Given the description of an element on the screen output the (x, y) to click on. 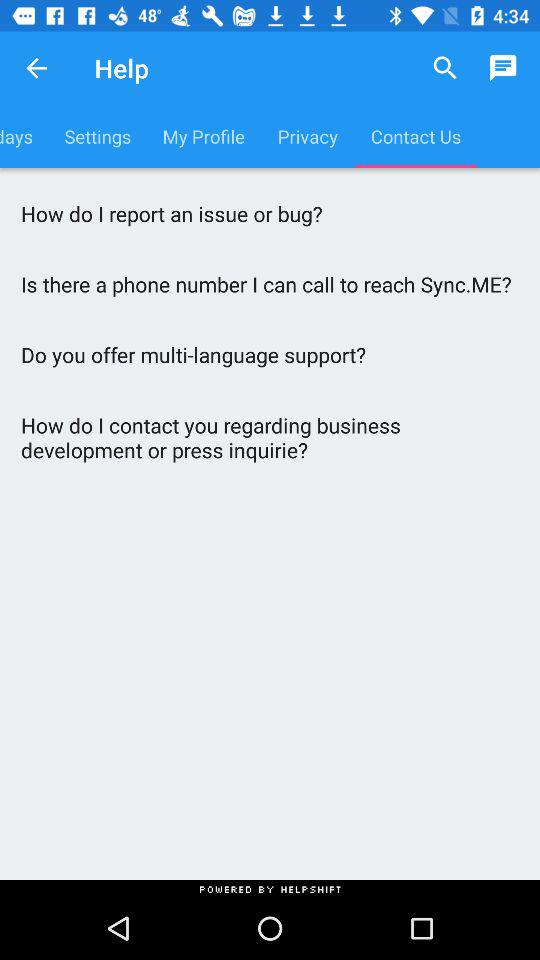
swipe to is there a icon (270, 284)
